Given the description of an element on the screen output the (x, y) to click on. 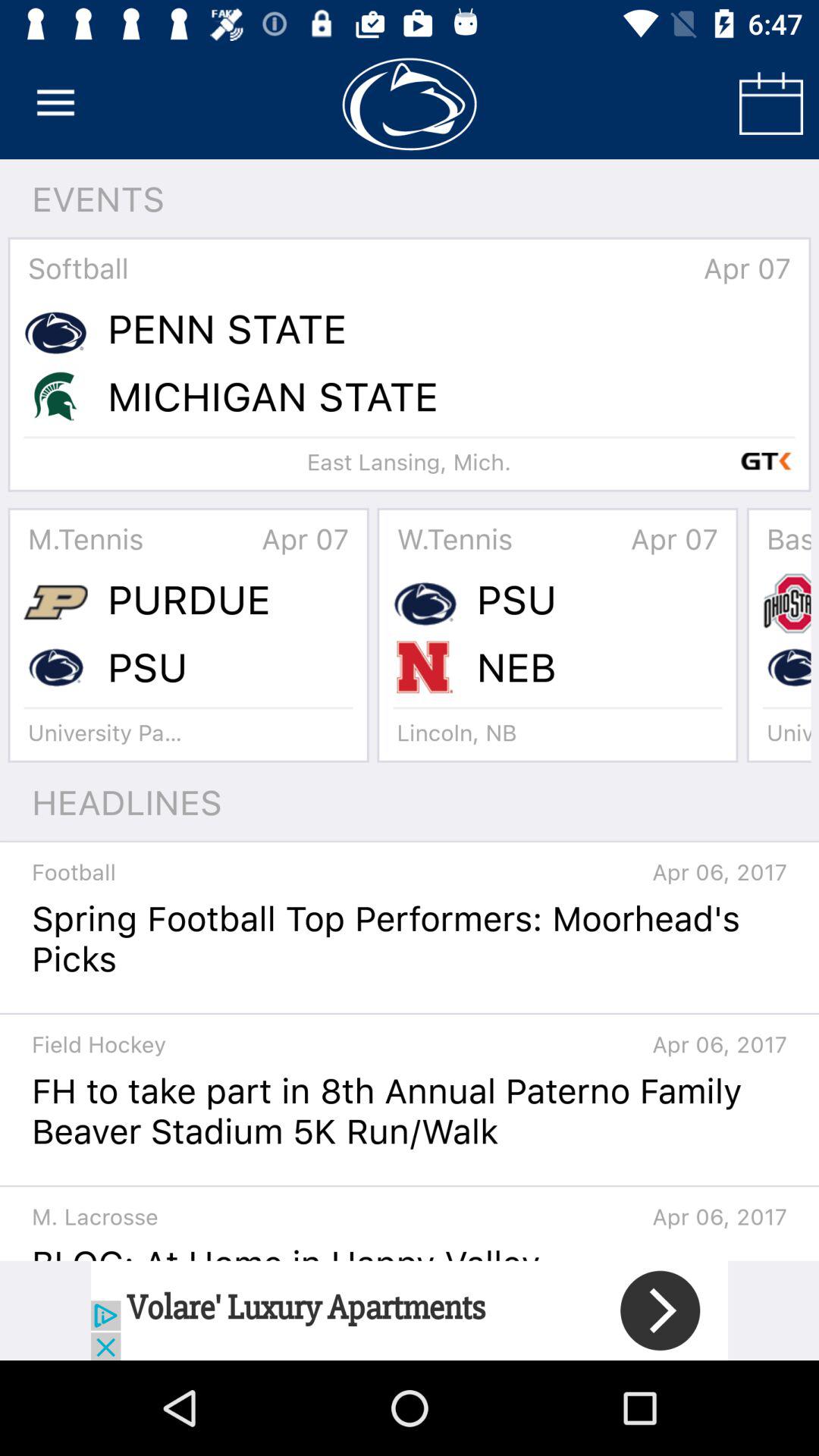
main menu (55, 103)
